Given the description of an element on the screen output the (x, y) to click on. 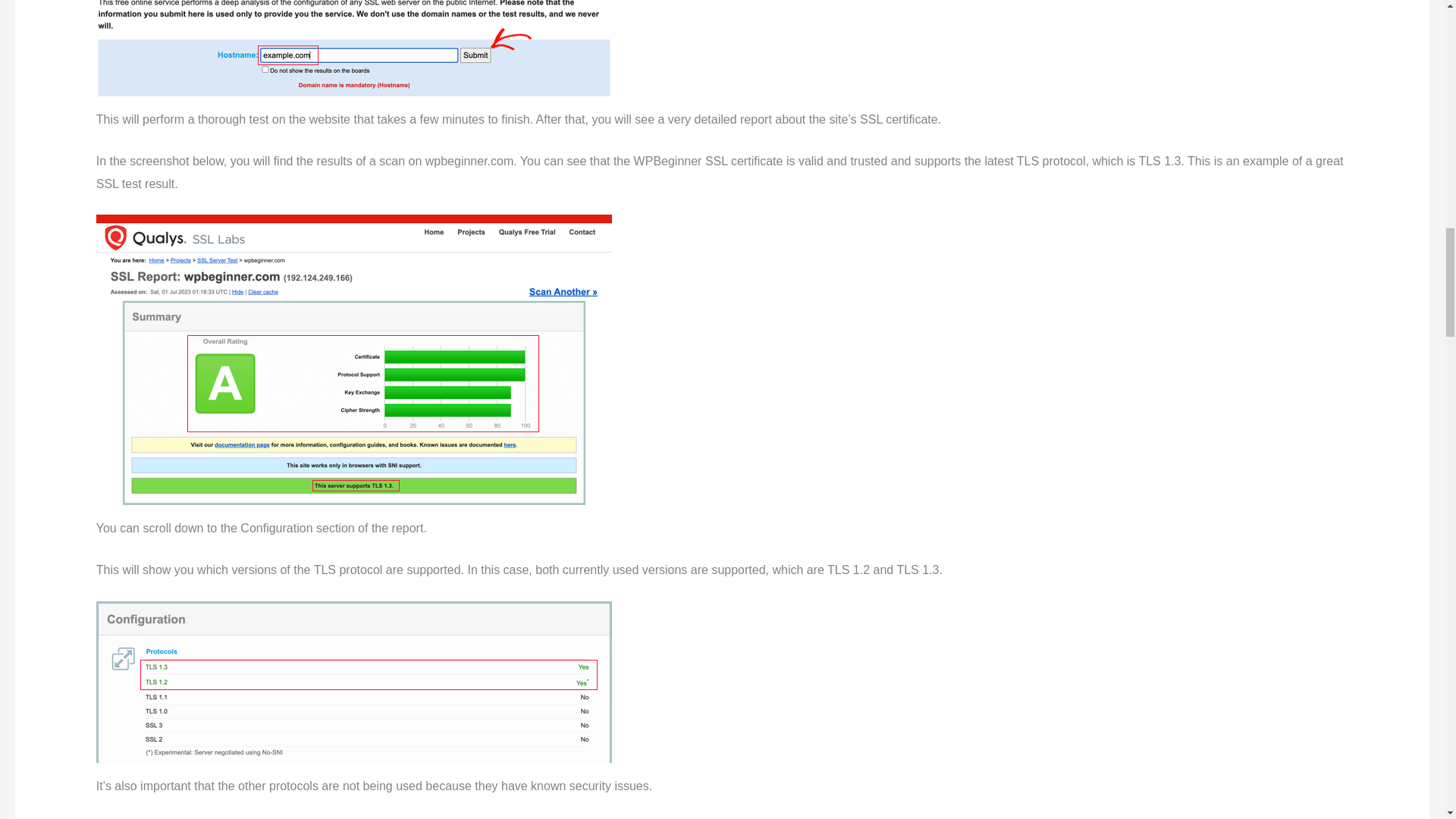
Supported TLS Protocols Listed (353, 681)
Scanning Your Website With Qualys SSL Labs SSL Server Test (353, 48)
